Given the description of an element on the screen output the (x, y) to click on. 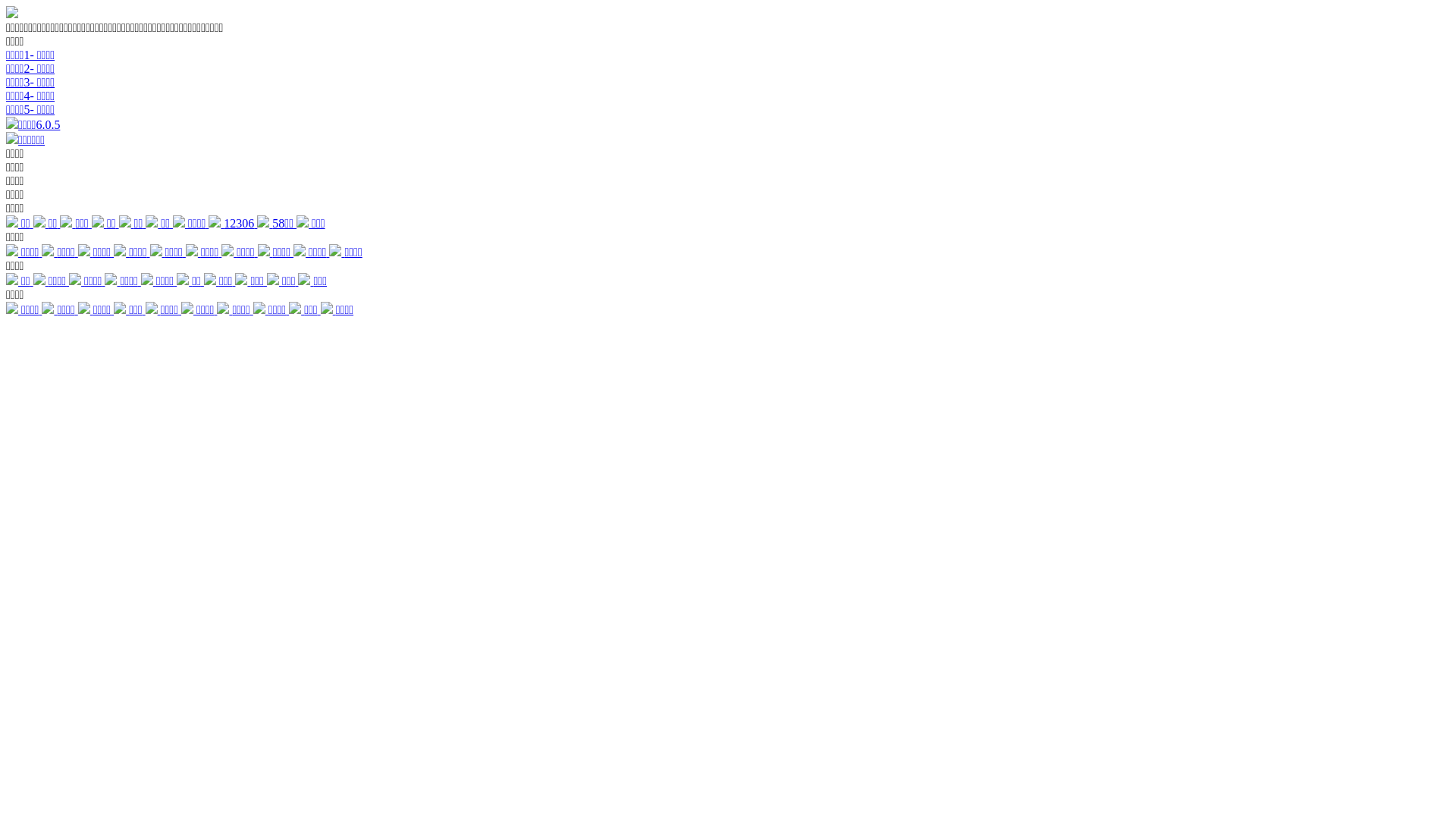
12306 Element type: text (232, 222)
